Given the description of an element on the screen output the (x, y) to click on. 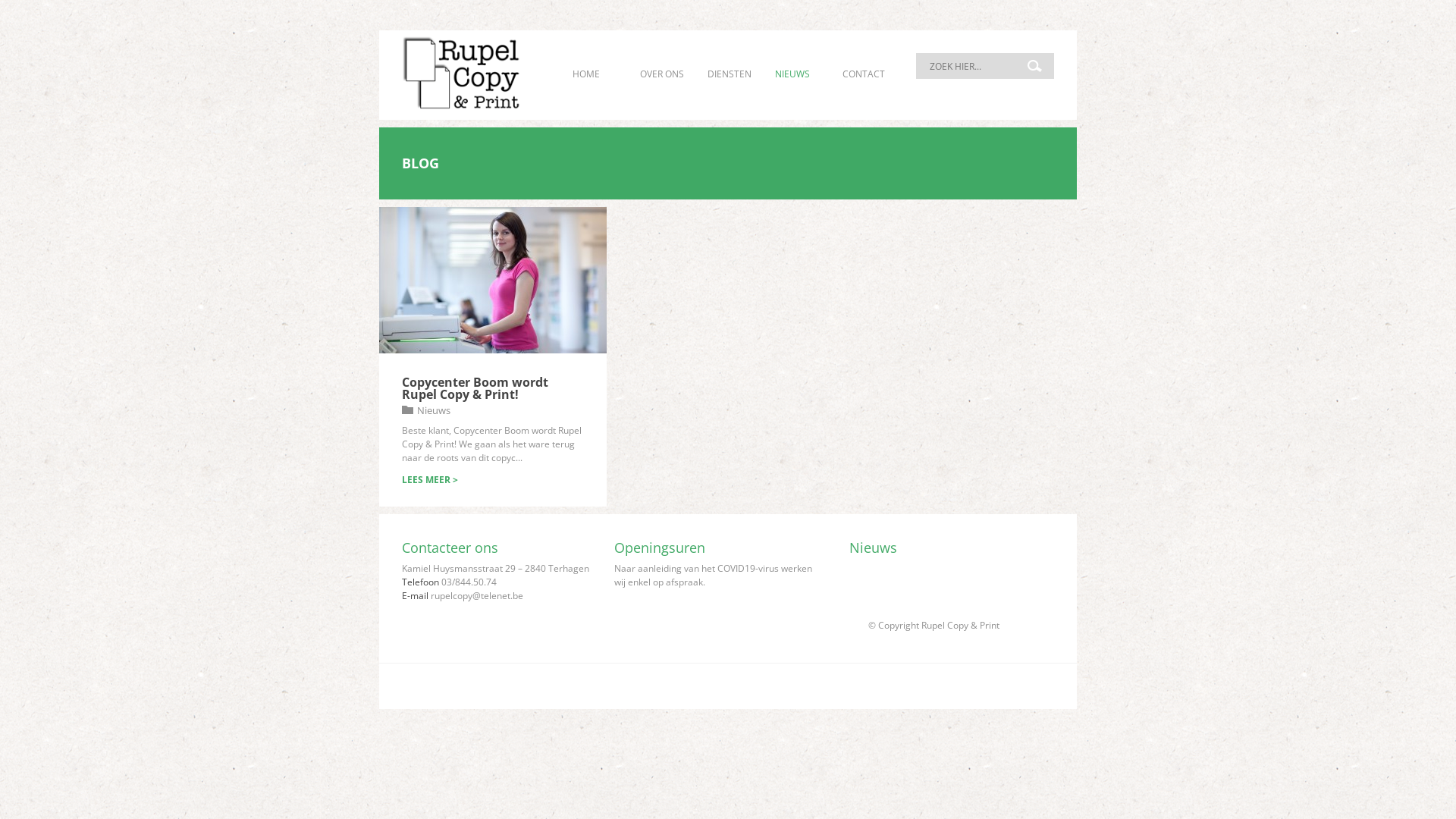
LEES MEER > Element type: text (429, 479)
DIENSTEN Element type: text (729, 73)
HOME Element type: text (585, 73)
OVER ONS Element type: text (662, 73)
CONTACT Element type: text (863, 73)
Copycenter Boom wordt Rupel Copy & Print! Element type: text (474, 387)
NIEUWS Element type: text (792, 73)
Contacteer ons Element type: text (449, 547)
